Given the description of an element on the screen output the (x, y) to click on. 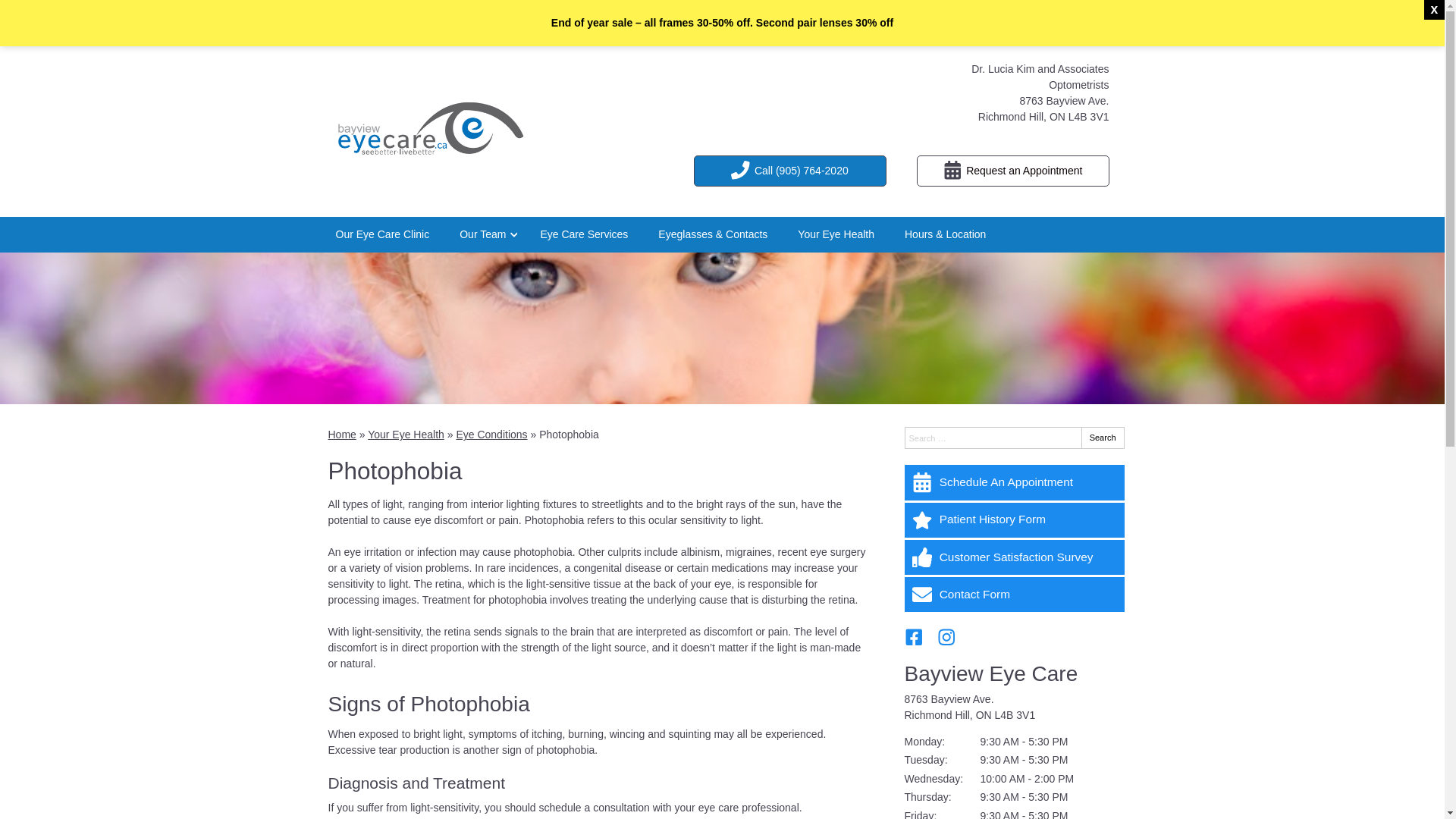
x Element type: text (1434, 9)
Schedule An Appointment Element type: text (1013, 481)
Eyeglasses & Contacts Element type: text (712, 234)
Our Eye Care Clinic Element type: text (382, 234)
Your Eye Health Element type: text (405, 434)
Bayview Eye Care Element type: text (990, 673)
Your Eye Health Element type: text (835, 234)
Home Element type: text (341, 434)
Customer Satisfaction Survey Element type: text (1013, 556)
Hours & Location Element type: text (945, 234)
Patient History Form Element type: text (1013, 519)
Eye Care Services Element type: text (583, 234)
Call (905) 764-2020 Element type: text (789, 170)
Our Team Element type: text (484, 234)
Eye Conditions Element type: text (491, 434)
Contact Form Element type: text (1013, 594)
Search Element type: text (1102, 437)
Request an Appointment Element type: text (1012, 170)
